Given the description of an element on the screen output the (x, y) to click on. 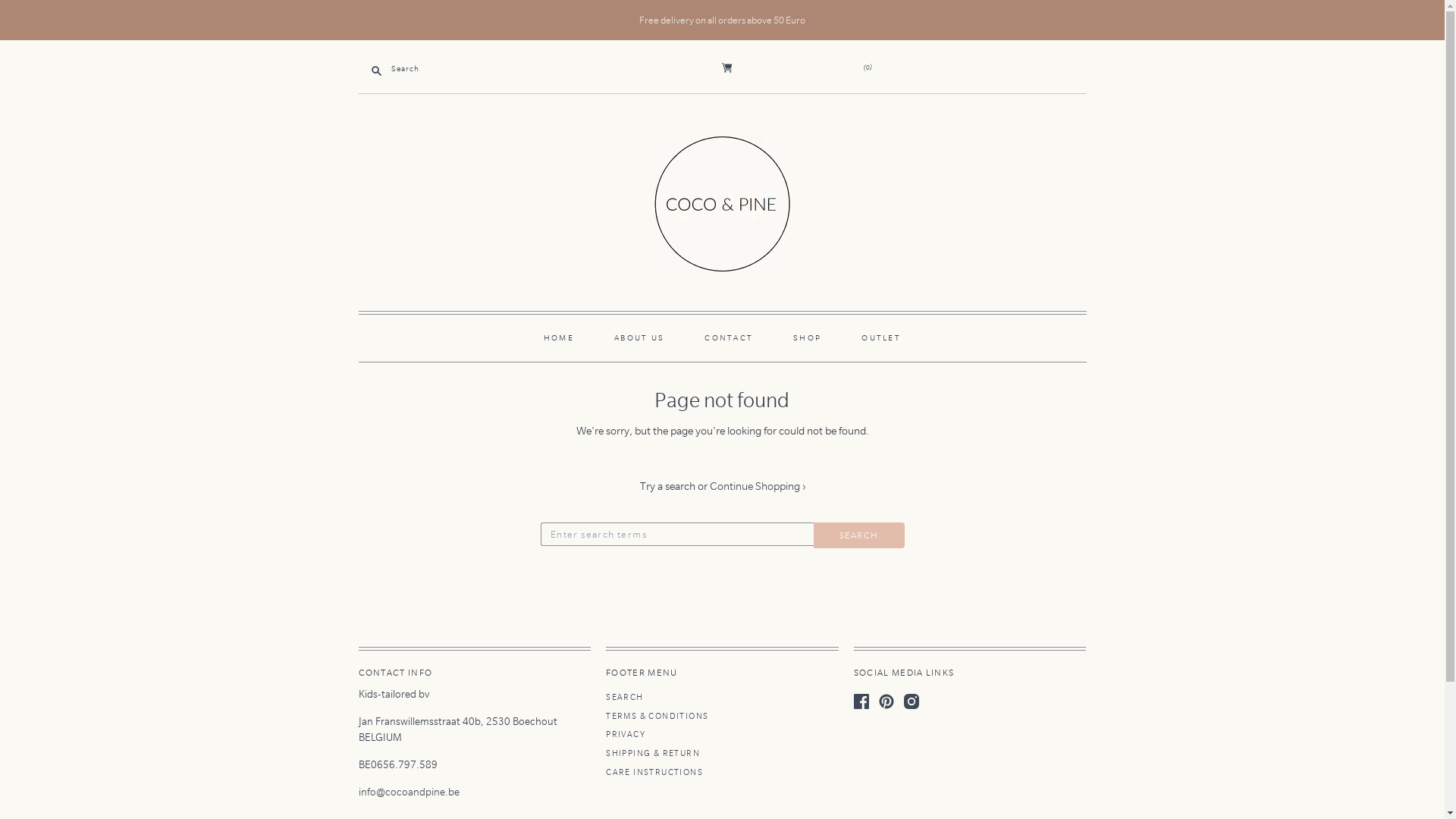
CARE INSTRUCTIONS Element type: text (653, 772)
SHOP Element type: text (806, 337)
Free delivery on all orders above 50 Euro Element type: text (722, 20)
Search Element type: text (857, 535)
HOME Element type: text (558, 337)
PRIVACY Element type: text (625, 734)
SHIPPING & RETURN Element type: text (652, 753)
CONTACT Element type: text (728, 337)
info@cocoandpine.be Element type: text (408, 791)
ABOUT US Element type: text (639, 337)
TERMS & CONDITIONS Element type: text (656, 716)
(0) Element type: text (867, 67)
SEARCH Element type: text (624, 697)
OUTLET Element type: text (881, 337)
